Given the description of an element on the screen output the (x, y) to click on. 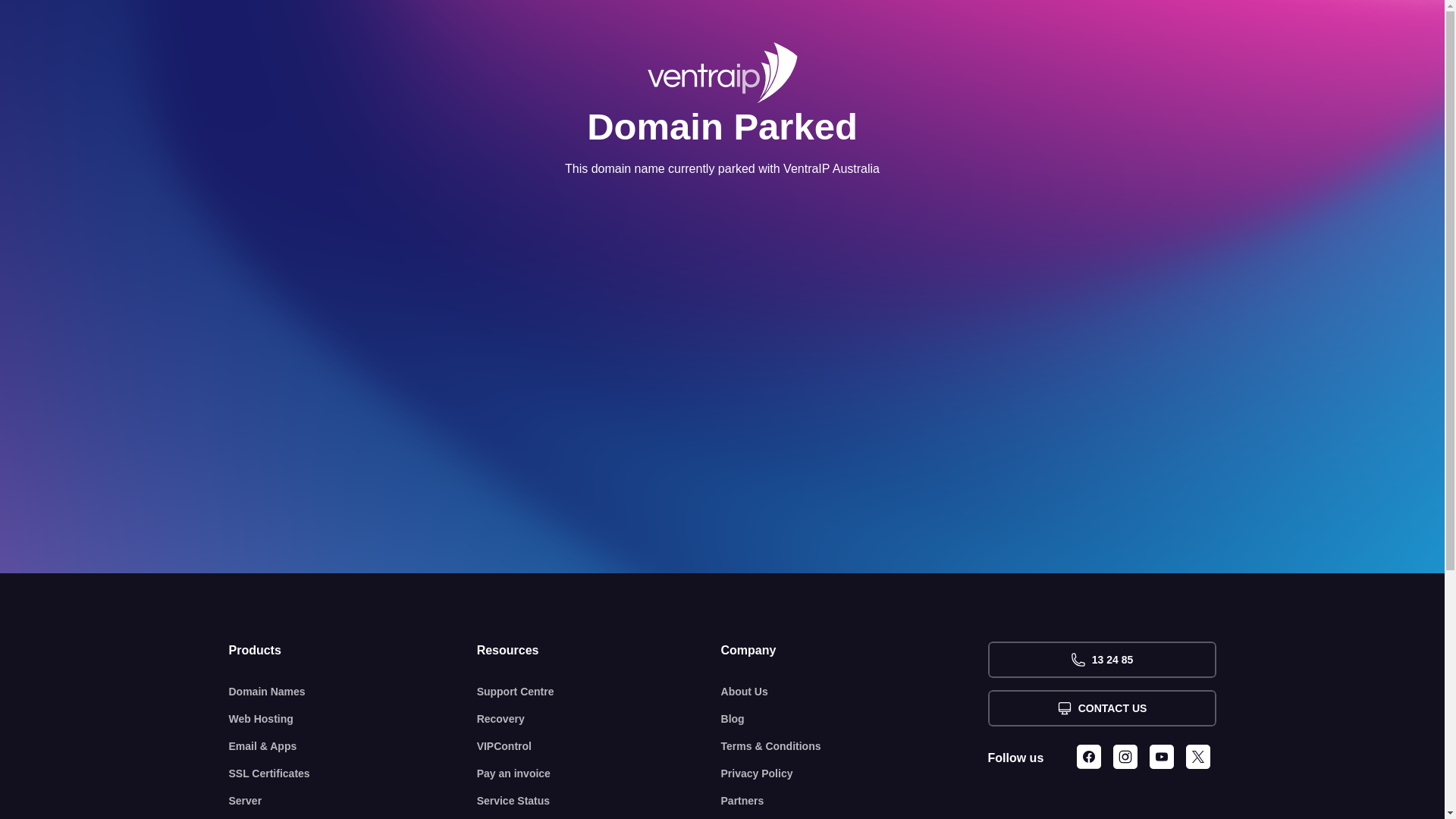
SSL Certificates Element type: text (352, 773)
Partners Element type: text (854, 800)
Pay an invoice Element type: text (598, 773)
Support Centre Element type: text (598, 691)
About Us Element type: text (854, 691)
Service Status Element type: text (598, 800)
CONTACT US Element type: text (1101, 708)
Blog Element type: text (854, 718)
Domain Names Element type: text (352, 691)
VIPControl Element type: text (598, 745)
Privacy Policy Element type: text (854, 773)
Recovery Element type: text (598, 718)
Web Hosting Element type: text (352, 718)
Email & Apps Element type: text (352, 745)
Terms & Conditions Element type: text (854, 745)
13 24 85 Element type: text (1101, 659)
Server Element type: text (352, 800)
